Given the description of an element on the screen output the (x, y) to click on. 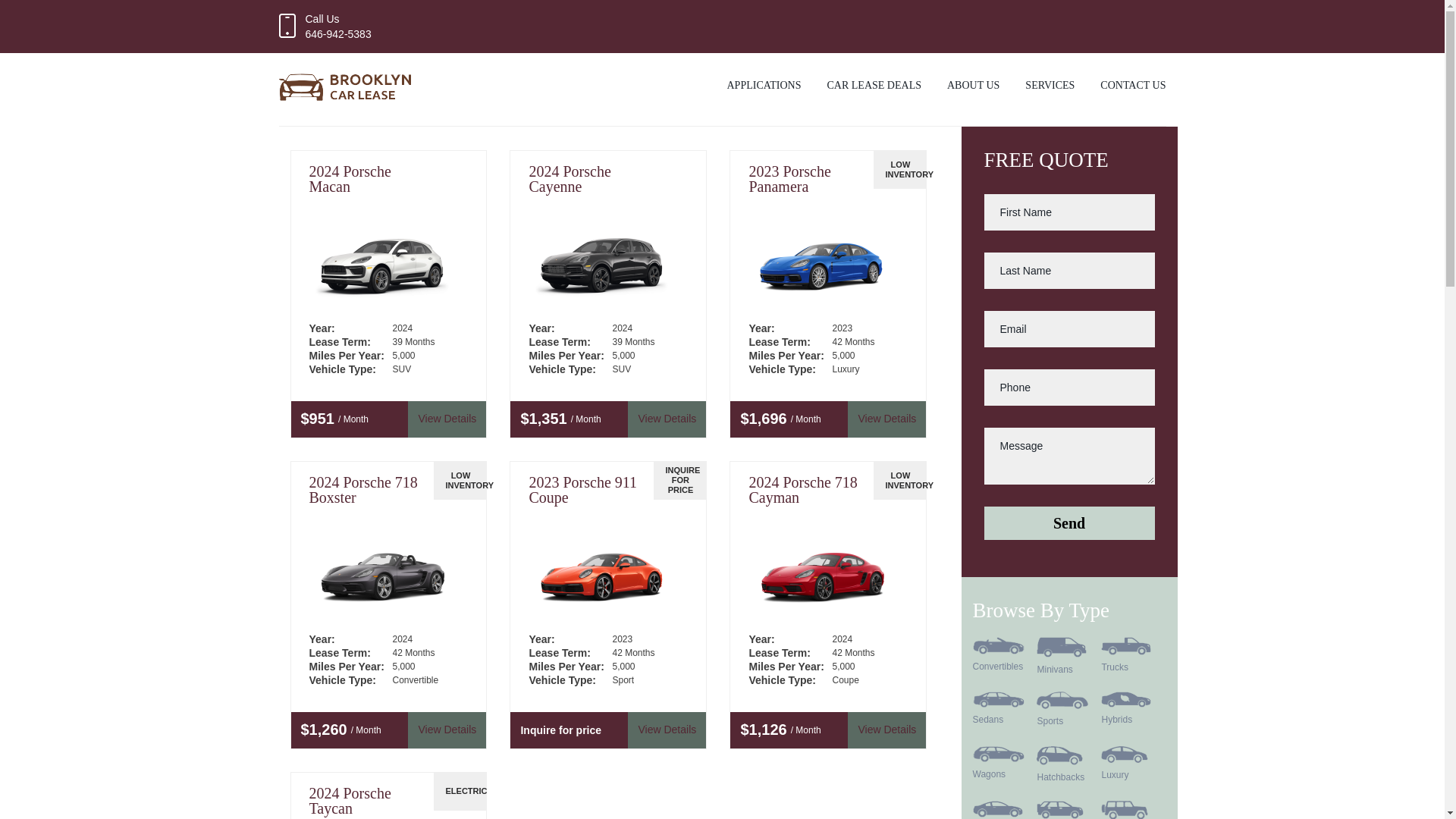
View Details (446, 419)
View Details (886, 729)
CONTACT US (1133, 90)
Send (1069, 522)
SERVICES (1049, 90)
View Details (666, 419)
ABOUT US (972, 90)
View Details (446, 729)
View Details (886, 419)
